Given the description of an element on the screen output the (x, y) to click on. 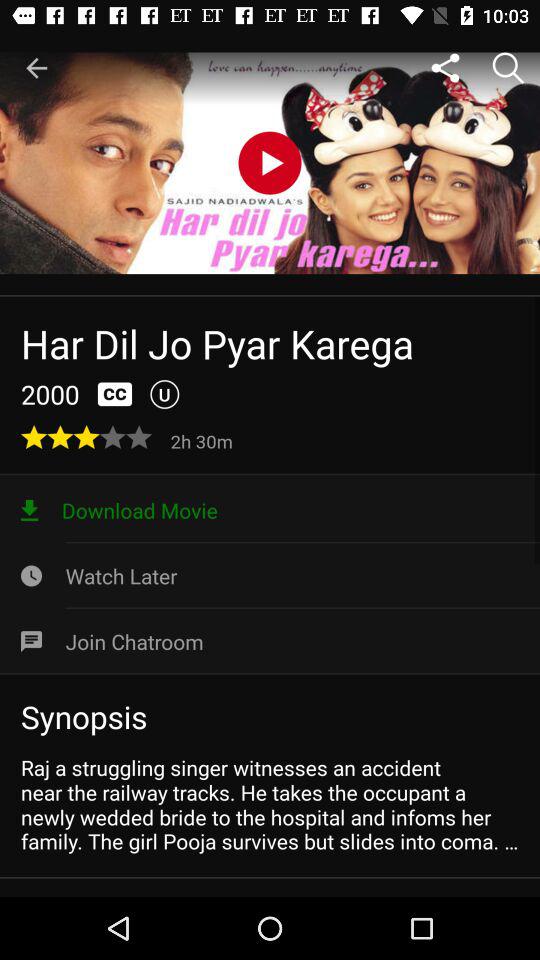
jump to the download movie item (270, 510)
